Given the description of an element on the screen output the (x, y) to click on. 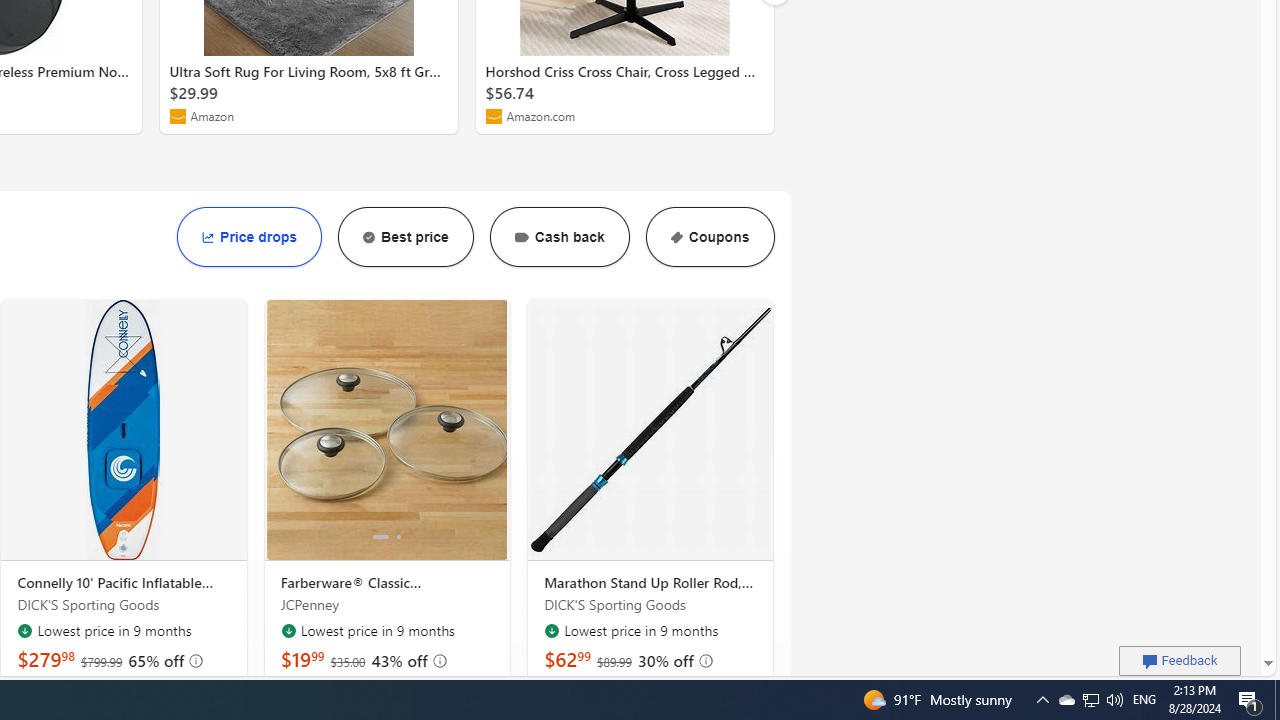
Click to scroll right (489, 429)
Marathon Stand Up Roller Rod, Aluminum (649, 430)
